Given the description of an element on the screen output the (x, y) to click on. 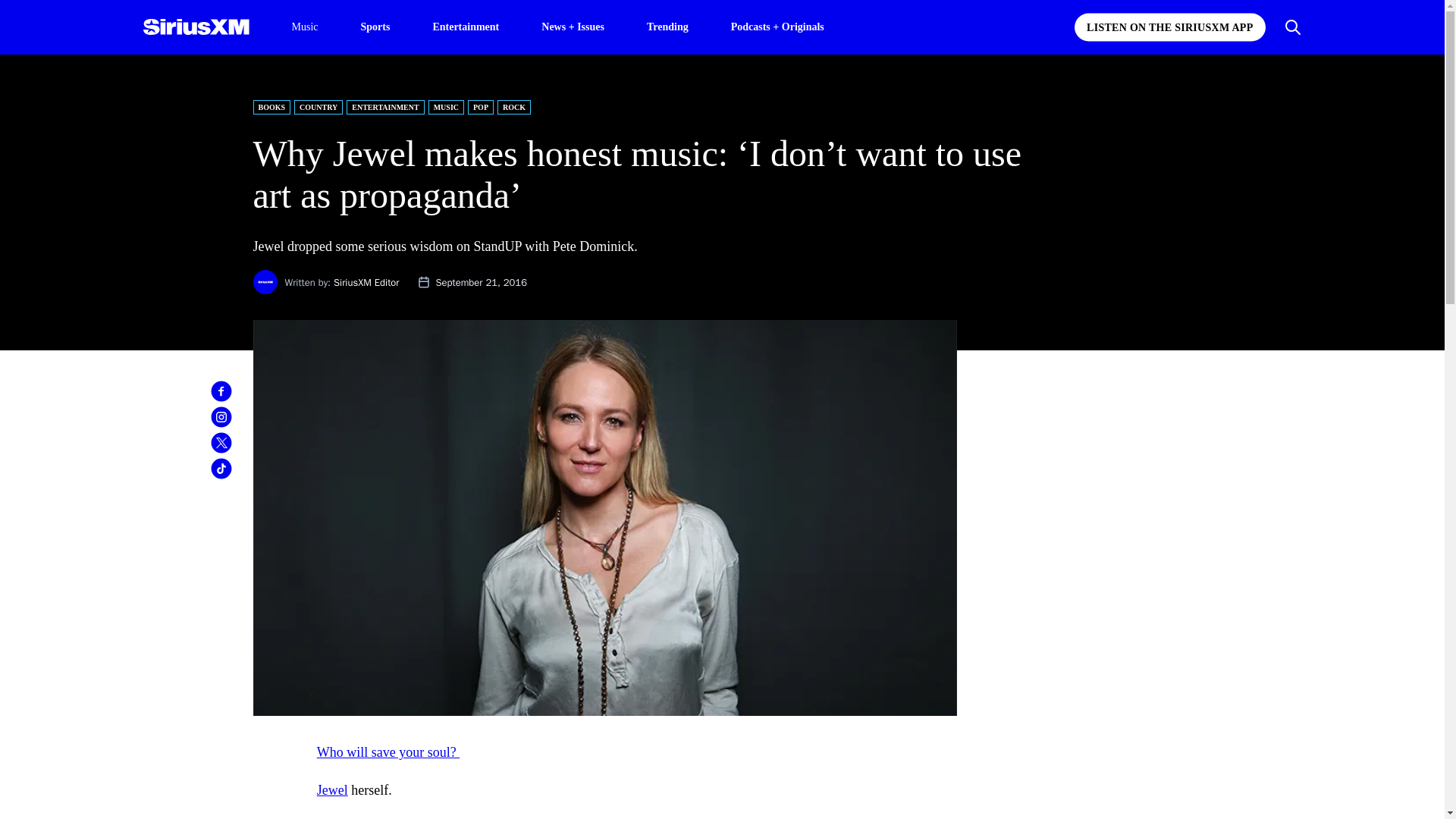
LISTEN ON THE SIRIUSXM APP (1169, 27)
ROCK (514, 106)
Trending (667, 26)
ENTERTAINMENT (384, 106)
Sports (375, 26)
SiriusXM Editor (365, 282)
POP (480, 106)
Music (304, 26)
MUSIC (446, 106)
Entertainment (465, 26)
COUNTRY (318, 106)
Who will save your soul?  (388, 752)
BOOKS (272, 106)
Jewel (332, 789)
